Given the description of an element on the screen output the (x, y) to click on. 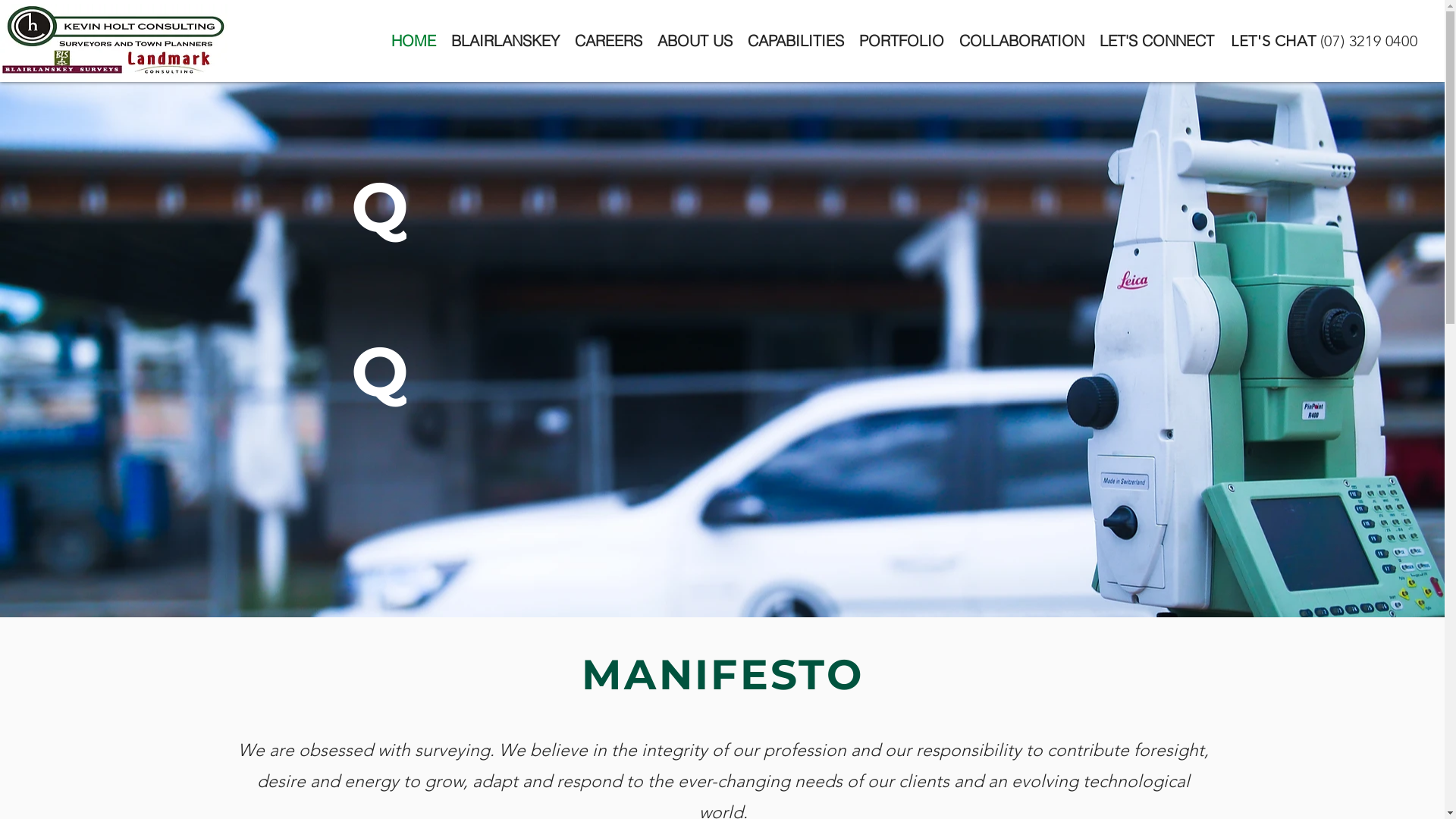
LET'S CONNECT Element type: text (1156, 40)
ABOUT US Element type: text (694, 40)
PORTFOLIO Element type: text (900, 40)
 LET'S CHAT (07) 3219 0400 Element type: text (1322, 40)
CAREERS Element type: text (608, 40)
HOME Element type: text (413, 40)
CAPABILITIES Element type: text (795, 40)
BLAIRLANSKEY Element type: text (504, 40)
COLLABORATION Element type: text (1020, 40)
